Given the description of an element on the screen output the (x, y) to click on. 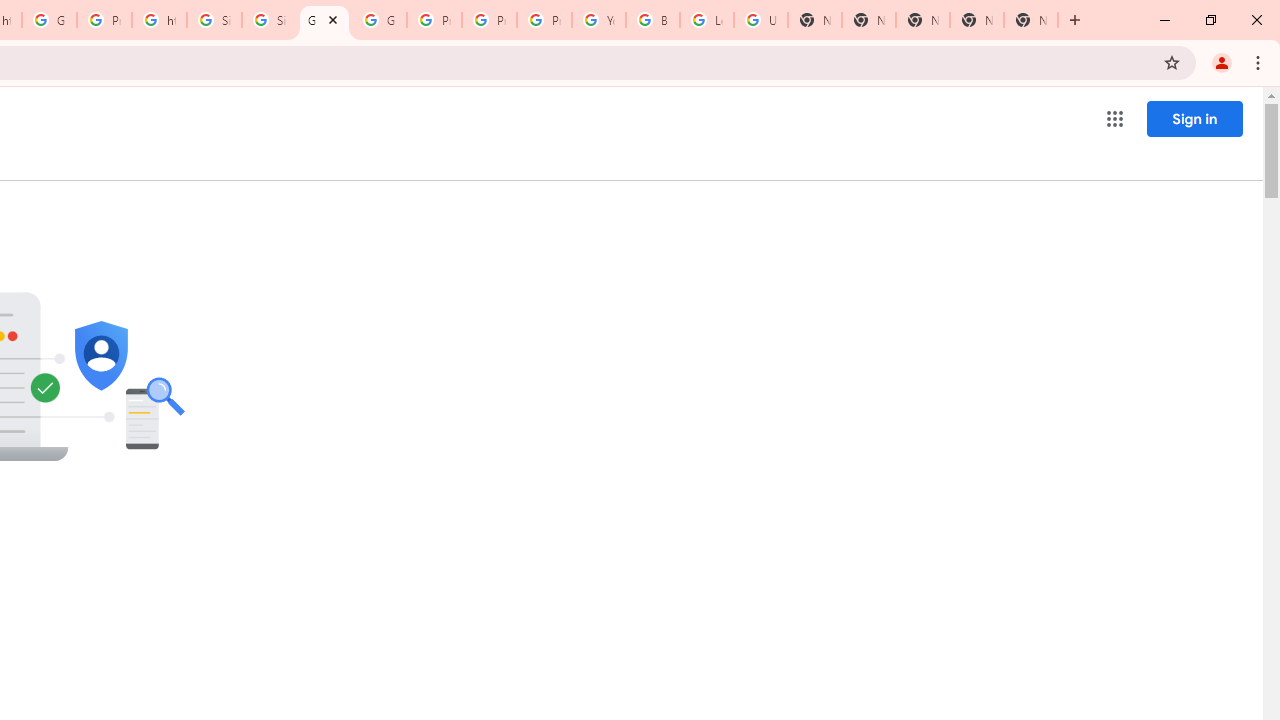
Privacy Help Center - Policies Help (434, 20)
New Tab (1030, 20)
Privacy Help Center - Policies Help (489, 20)
Sign in - Google Accounts (213, 20)
Sign in - Google Accounts (268, 20)
YouTube (598, 20)
New Tab (922, 20)
